Given the description of an element on the screen output the (x, y) to click on. 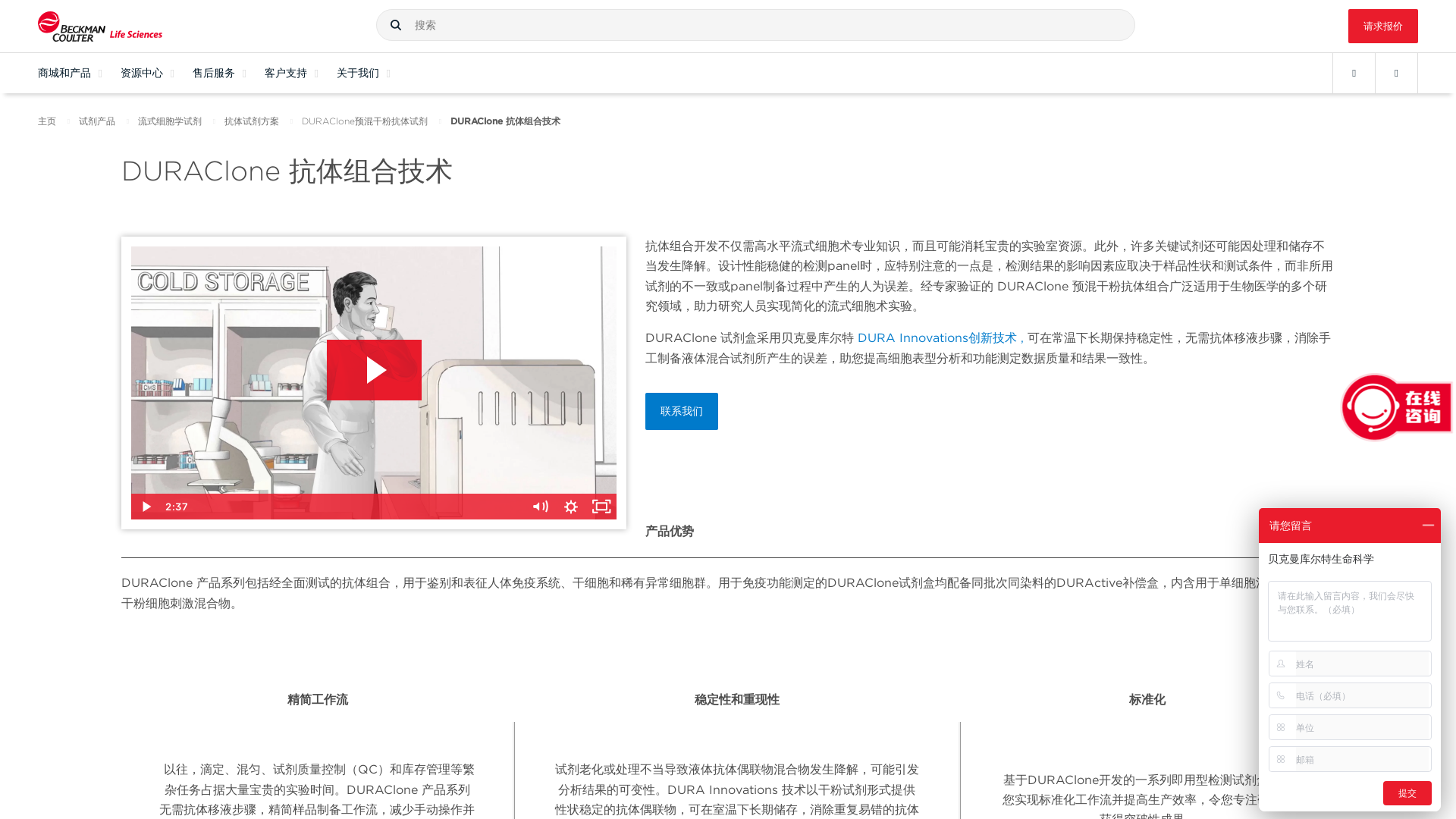
Insert a query. Press enter to send (754, 24)
Play Video (146, 506)
Mute (540, 506)
Fullscreen (600, 506)
Show settings menu (571, 506)
